Given the description of an element on the screen output the (x, y) to click on. 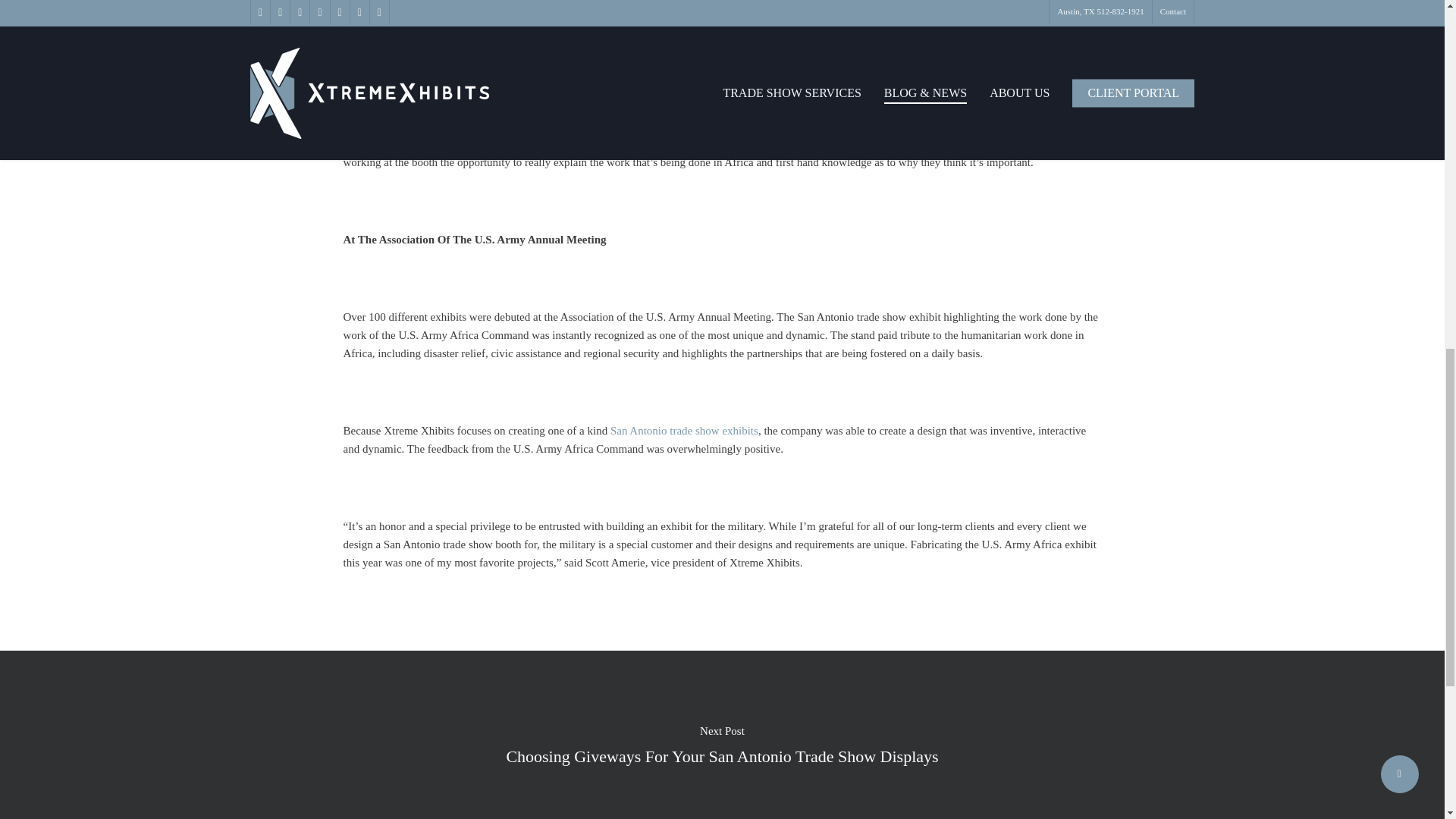
San Antonio trade show exhibits (684, 430)
Austin trade show stand (466, 107)
